Given the description of an element on the screen output the (x, y) to click on. 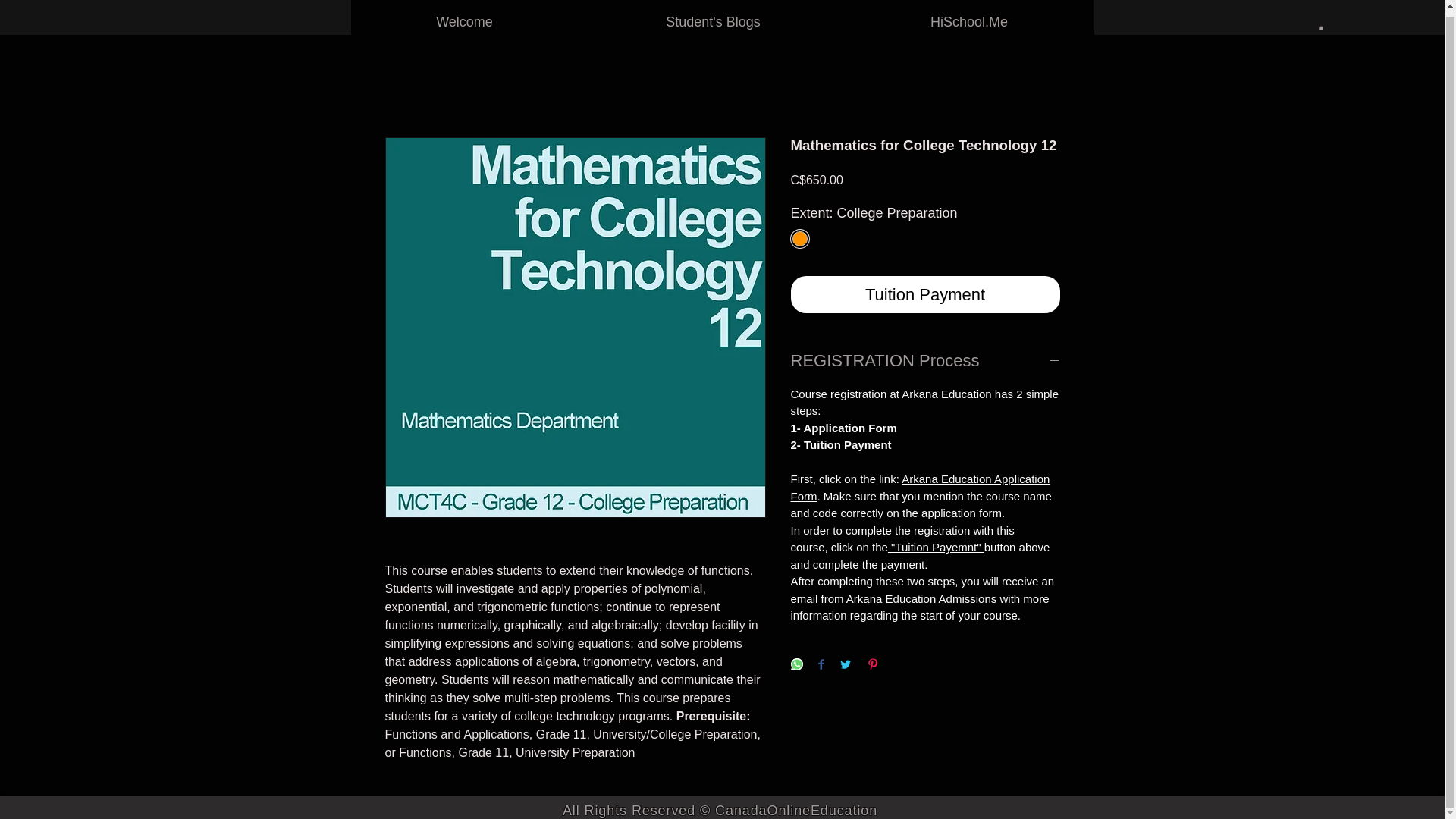
Student's Blogs (713, 16)
Tuition Payment (924, 294)
Arkana Education Application Form (919, 487)
REGISTRATION Process (924, 361)
HiSchool.Me (969, 16)
Welcome (464, 16)
